Given the description of an element on the screen output the (x, y) to click on. 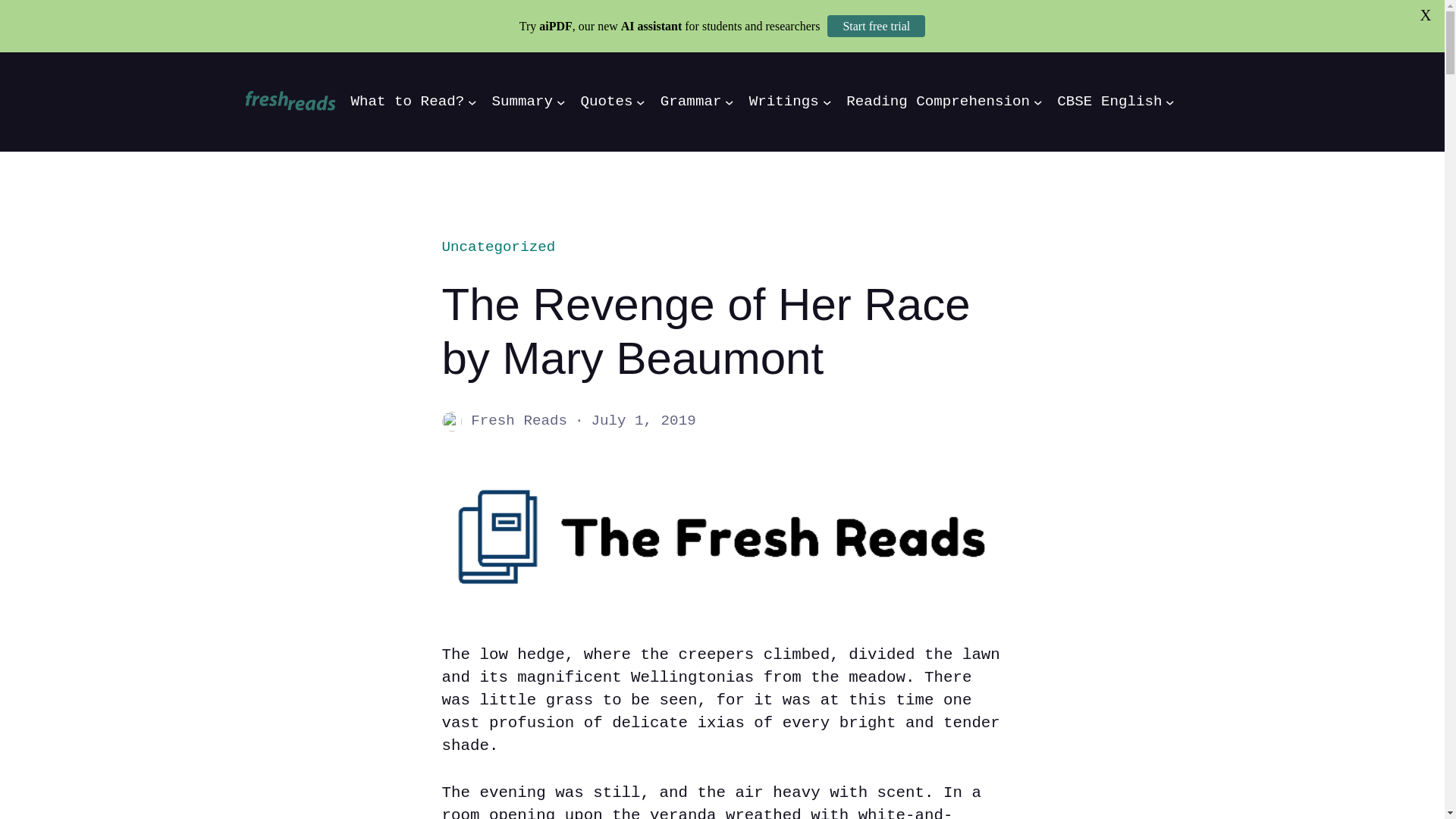
What to Read? (407, 101)
Summary (522, 101)
